Given the description of an element on the screen output the (x, y) to click on. 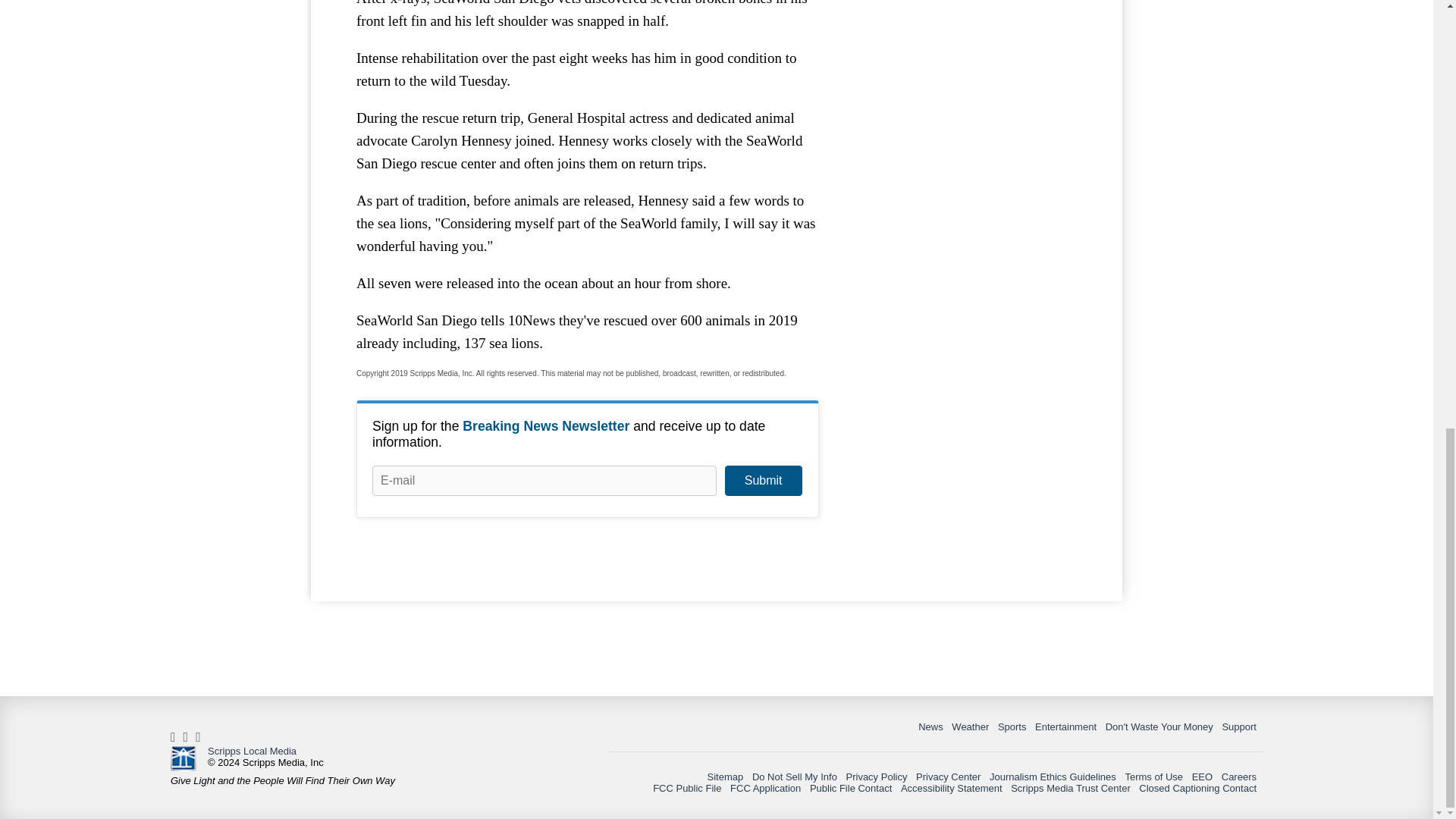
Submit (763, 481)
